Given the description of an element on the screen output the (x, y) to click on. 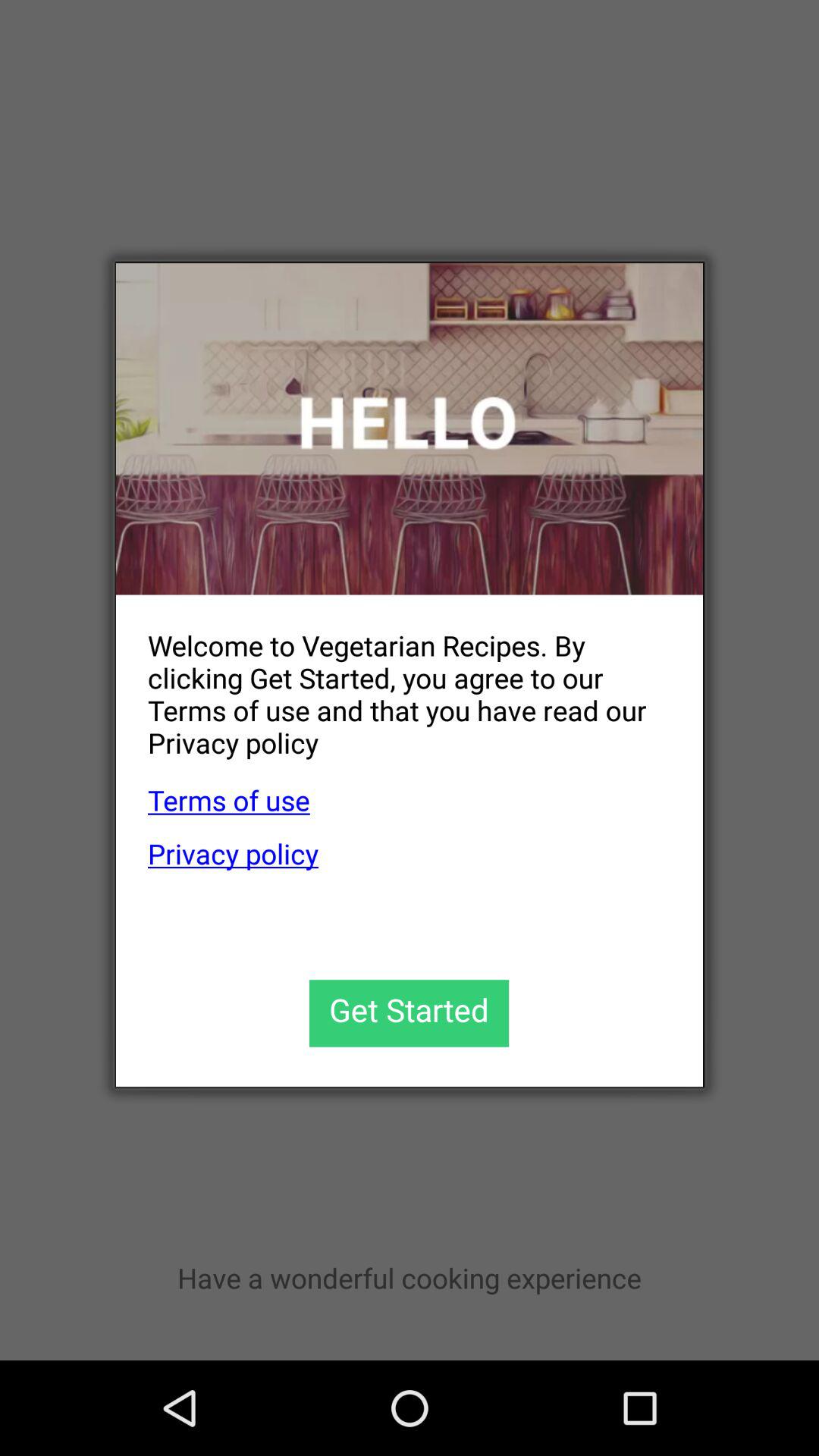
launch the app below privacy policy app (409, 1013)
